Given the description of an element on the screen output the (x, y) to click on. 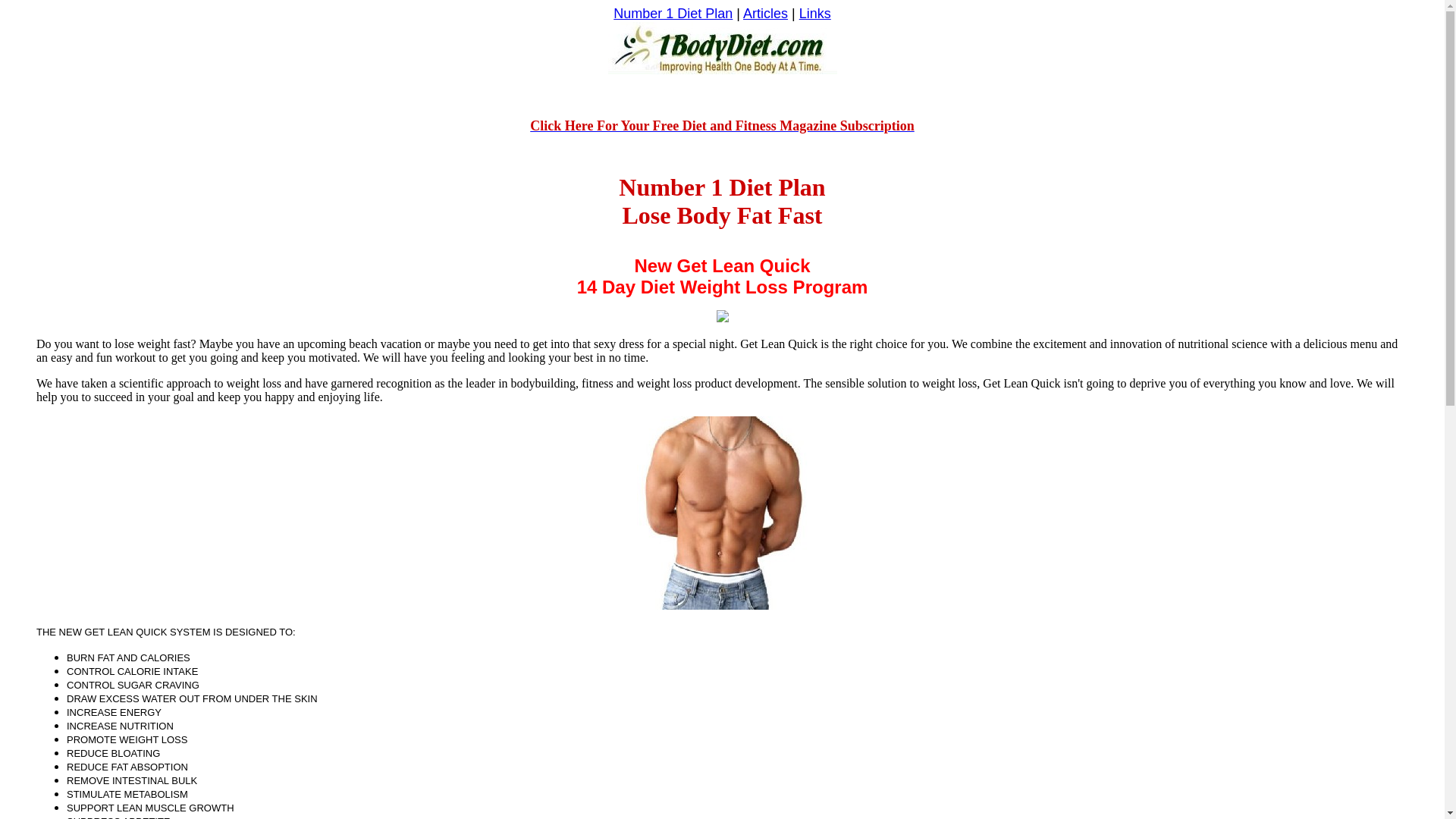
Links Element type: text (815, 13)
Articles Element type: text (765, 13)
Number 1 Diet Plan Element type: text (672, 13)
